Given the description of an element on the screen output the (x, y) to click on. 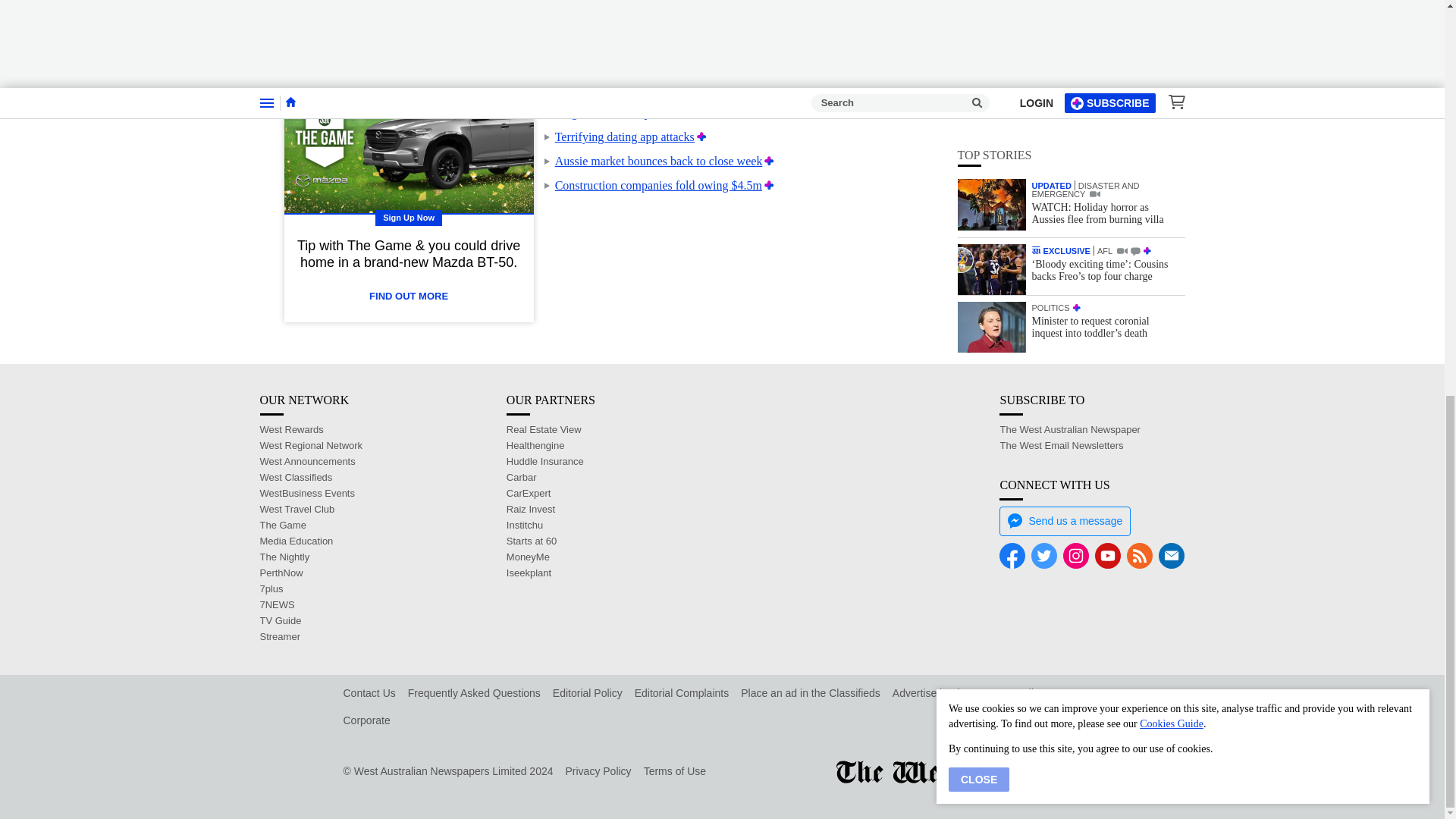
Premium (865, 88)
Premium (701, 136)
PREMIUM (1076, 287)
Premium (769, 160)
THE WEST AUSTRALIAN (1035, 230)
PREMIUM (1147, 231)
VIDEO (1094, 174)
VIDEO (1121, 231)
Premium (763, 112)
Premium (769, 185)
COMMENTS (1135, 231)
